Given the description of an element on the screen output the (x, y) to click on. 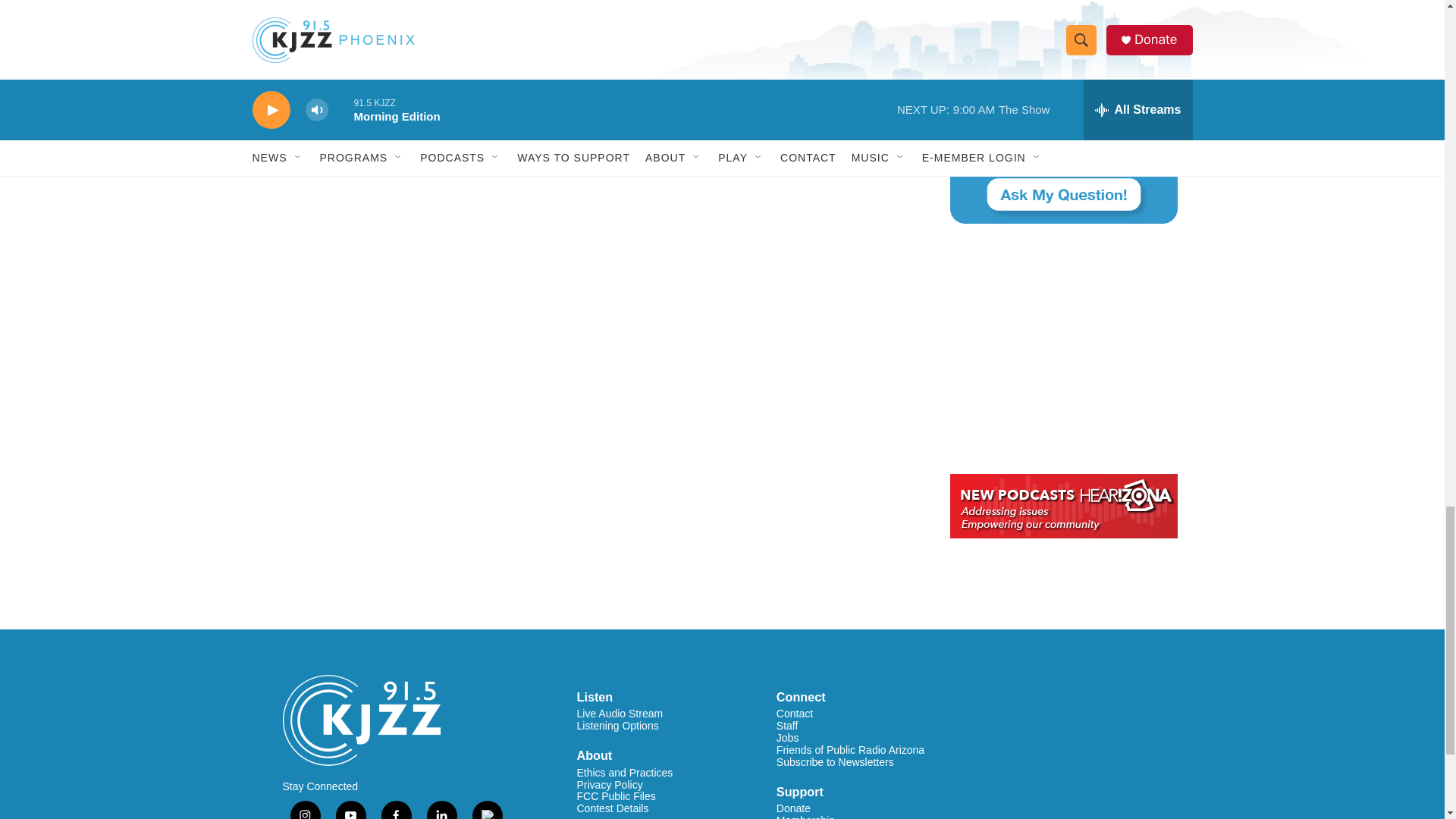
3rd party ad content (1062, 348)
Spot 127 web site (1062, 2)
